Given the description of an element on the screen output the (x, y) to click on. 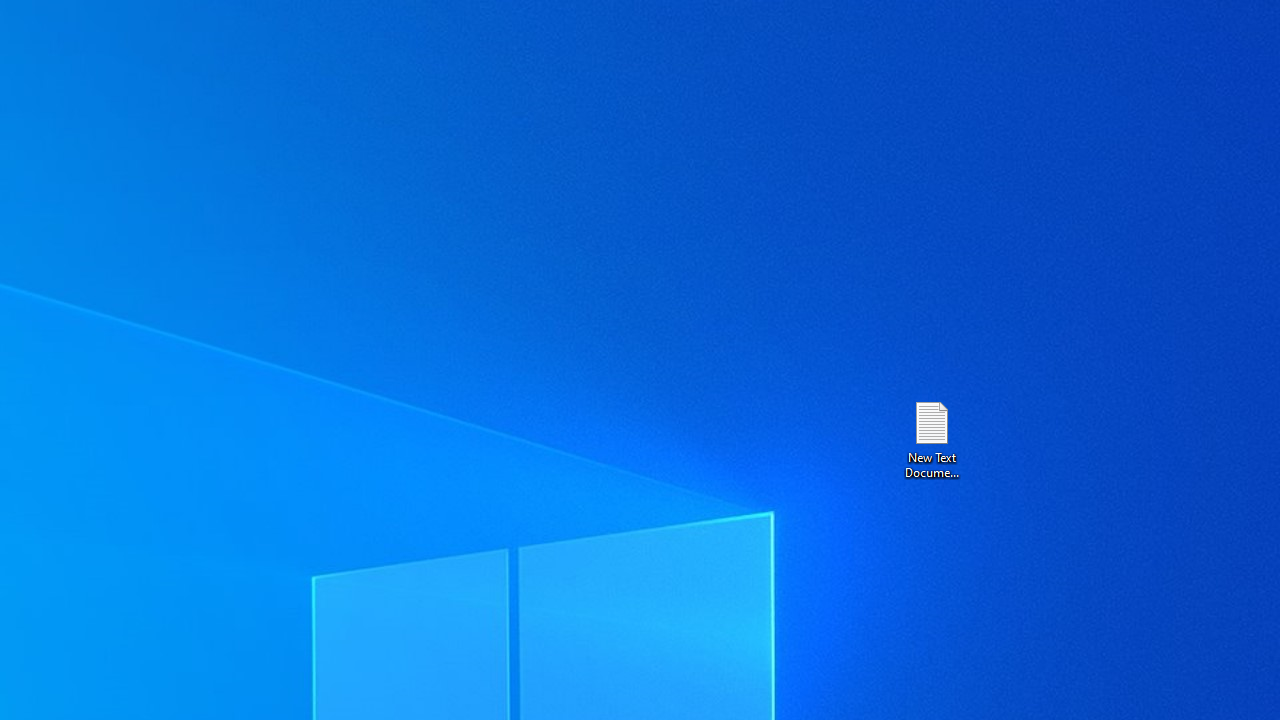
New Text Document (2) (931, 438)
